Given the description of an element on the screen output the (x, y) to click on. 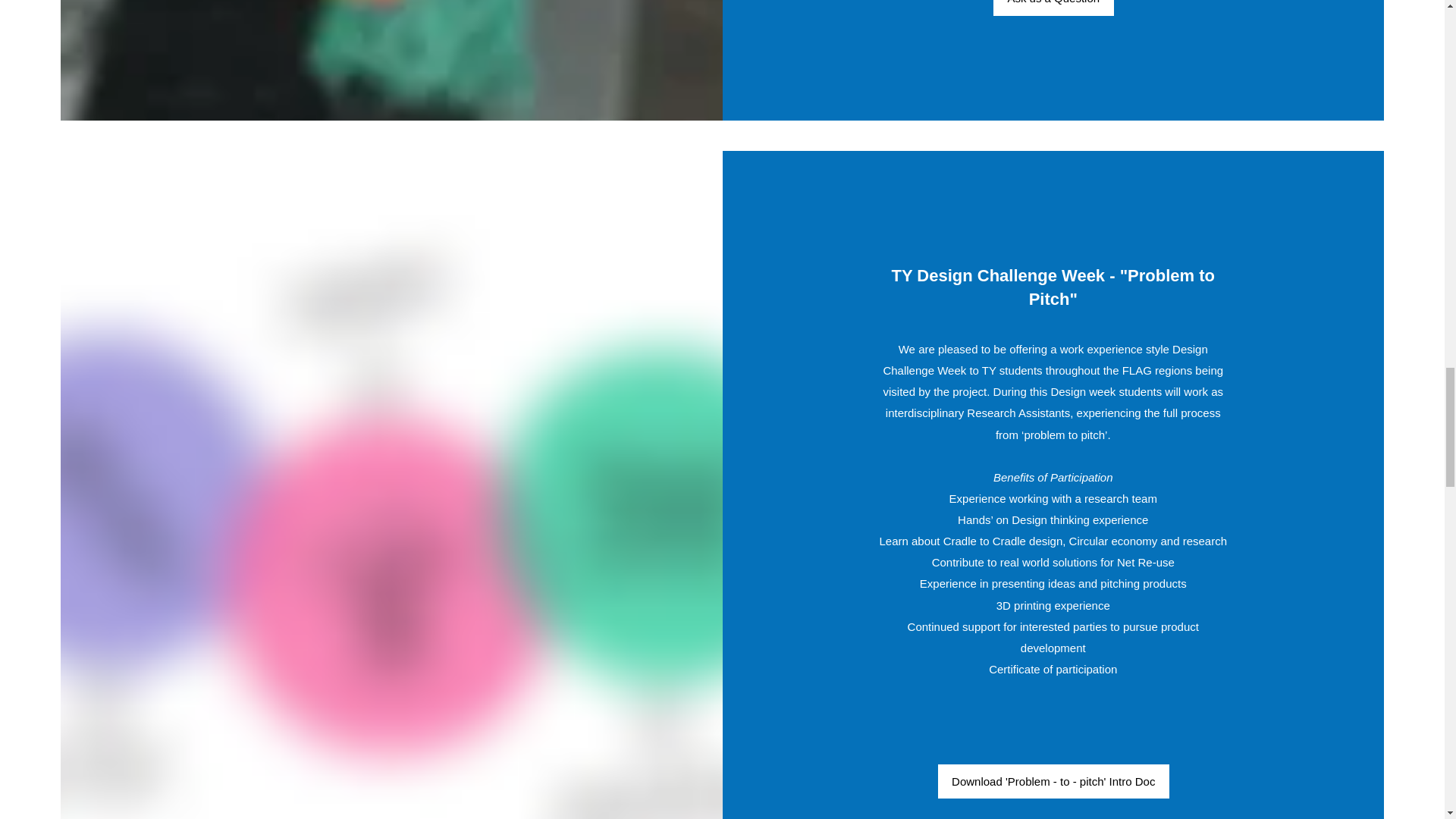
Download 'Problem - to - pitch' Intro Doc (1053, 781)
Ask us a Question (1052, 7)
